Given the description of an element on the screen output the (x, y) to click on. 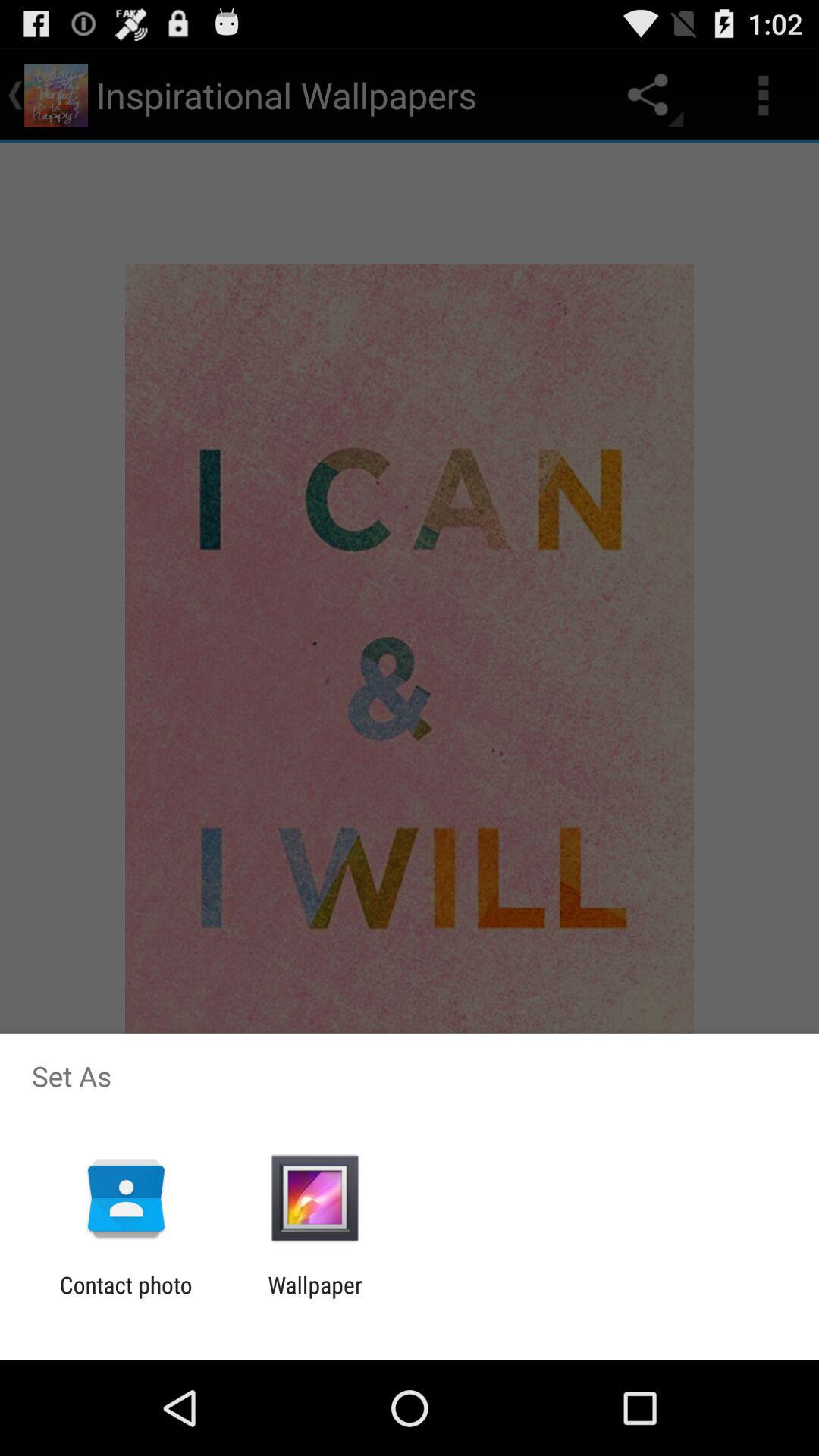
choose the icon to the right of contact photo app (314, 1298)
